Given the description of an element on the screen output the (x, y) to click on. 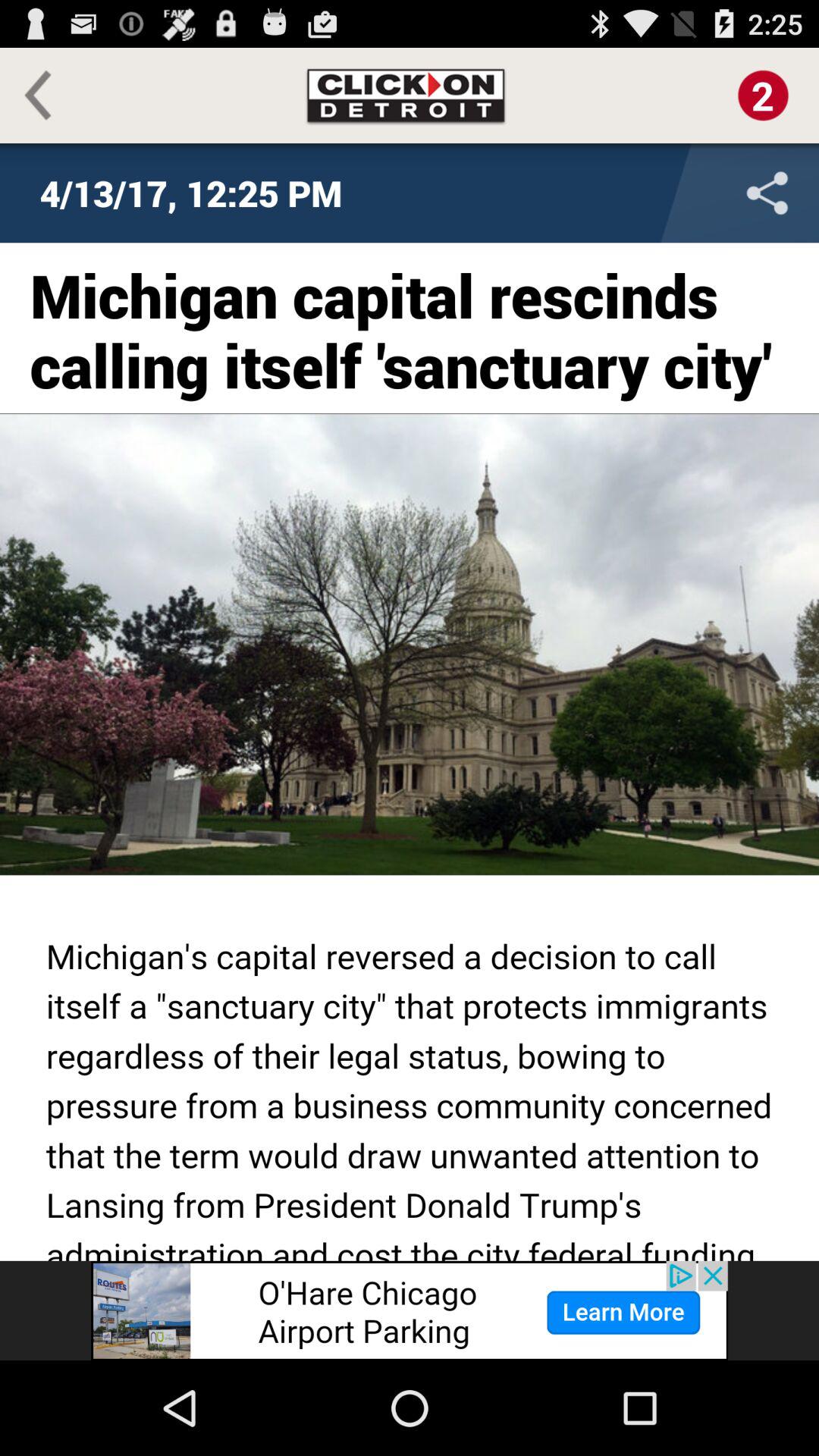
advertisement (409, 1310)
